Given the description of an element on the screen output the (x, y) to click on. 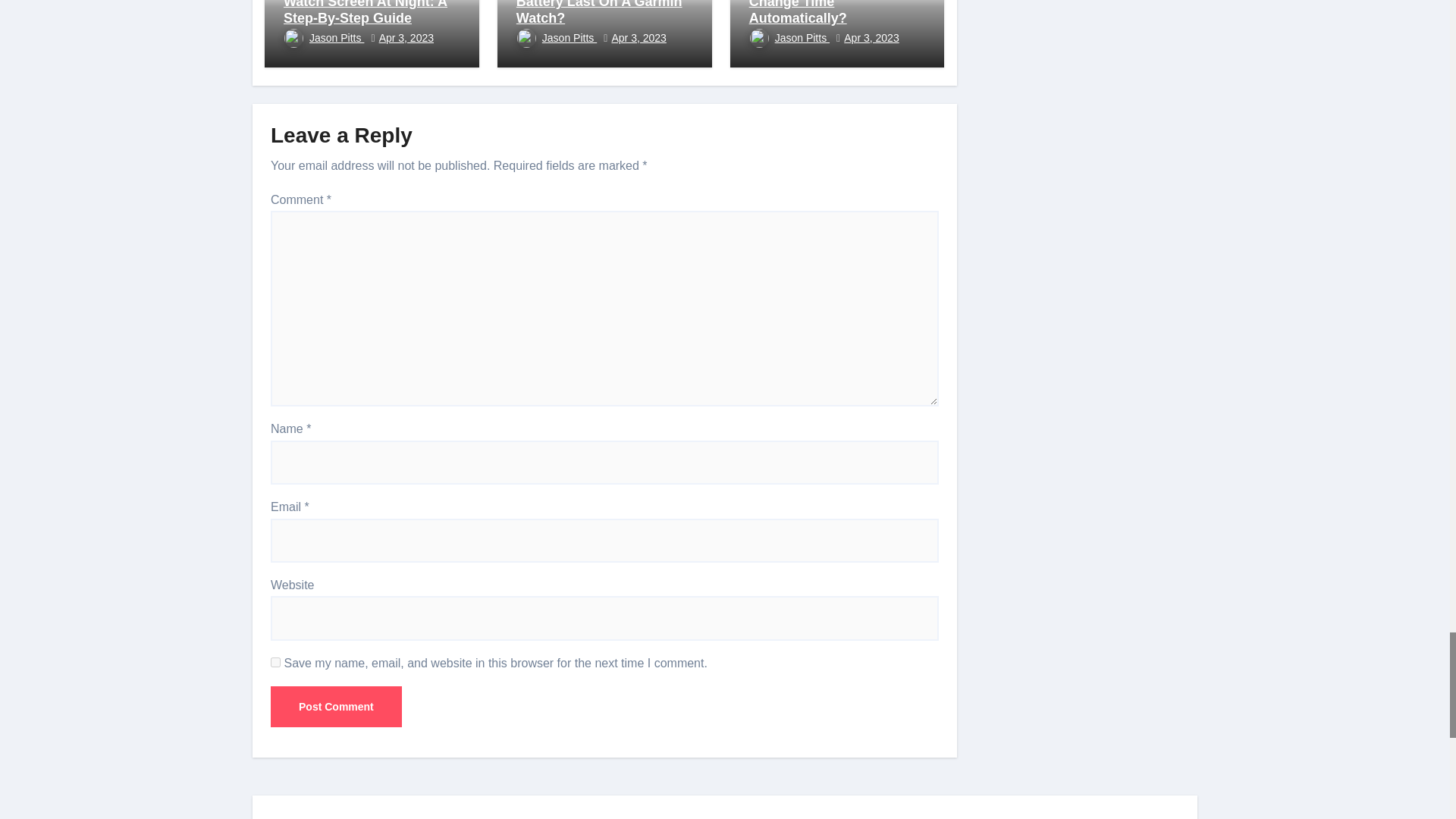
Permalink to: Will My Apple Watch Change Time Automatically? (815, 12)
Jason Pitts (323, 37)
Post Comment (335, 706)
yes (275, 662)
Apr 3, 2023 (405, 37)
